Given the description of an element on the screen output the (x, y) to click on. 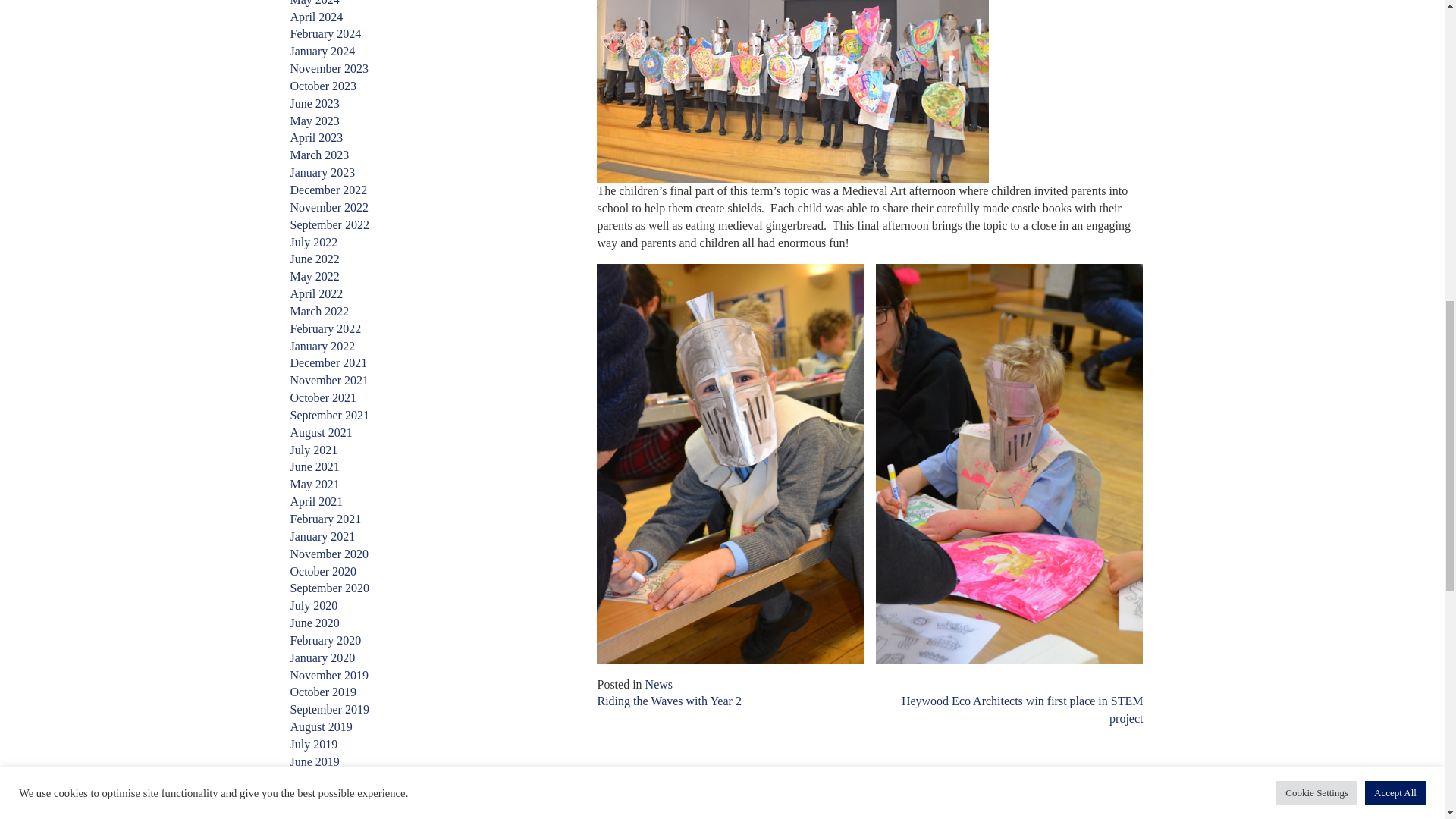
News (658, 684)
Riding the Waves with Year 2 (668, 700)
October 2023 (322, 85)
November 2023 (328, 68)
June 2023 (314, 103)
April 2024 (315, 16)
January 2023 (322, 172)
April 2023 (315, 137)
May 2024 (314, 2)
February 2024 (325, 33)
